Given the description of an element on the screen output the (x, y) to click on. 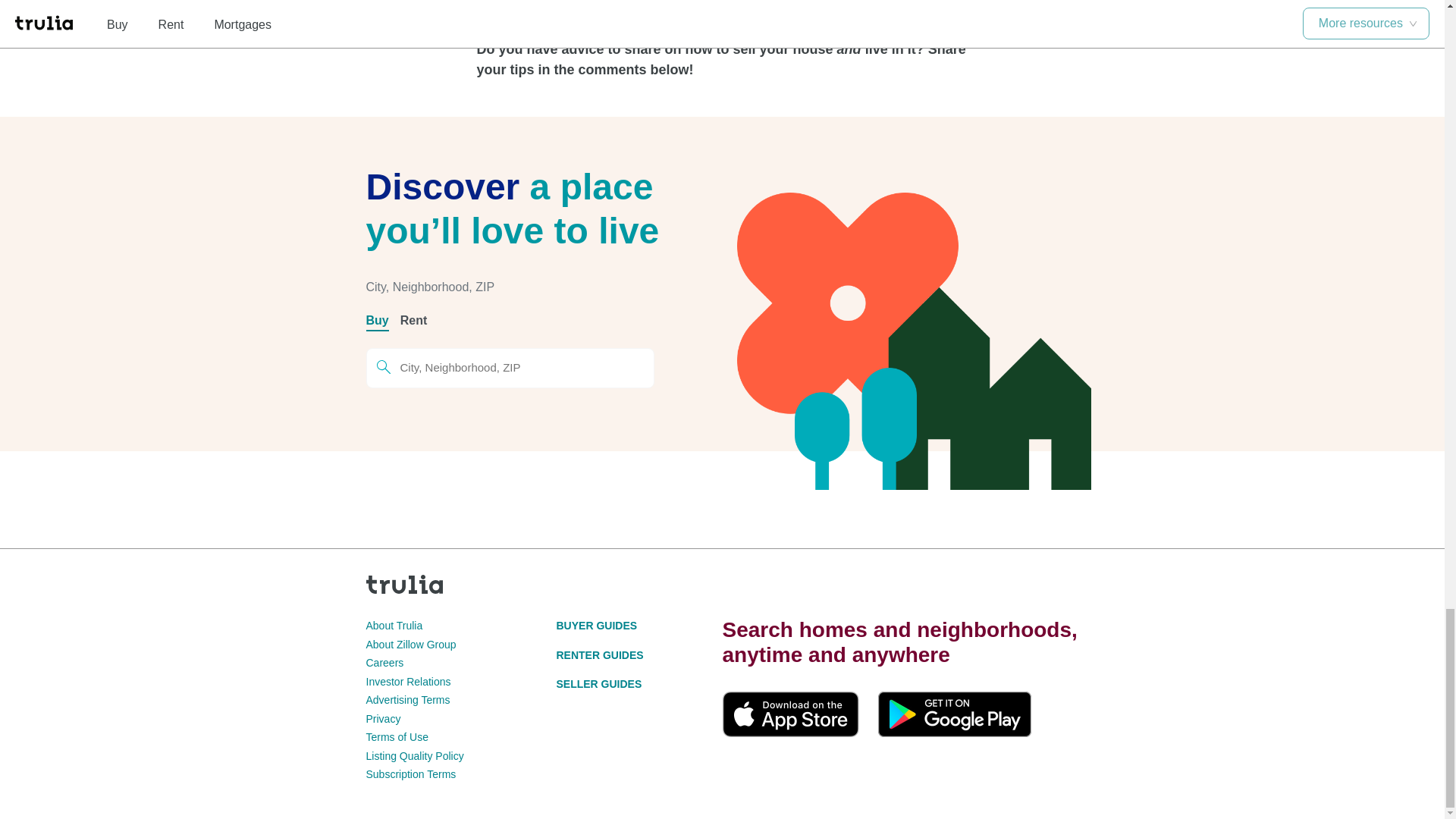
Listing Quality Policy (414, 756)
Careers (384, 662)
SELLER GUIDES (599, 684)
keep things organized (715, 12)
Subscription Terms (410, 774)
RENTER GUIDES (599, 654)
BUYER GUIDES (596, 625)
Investor Relations (407, 681)
Advertising Terms (407, 699)
Terms of Use (396, 736)
